Given the description of an element on the screen output the (x, y) to click on. 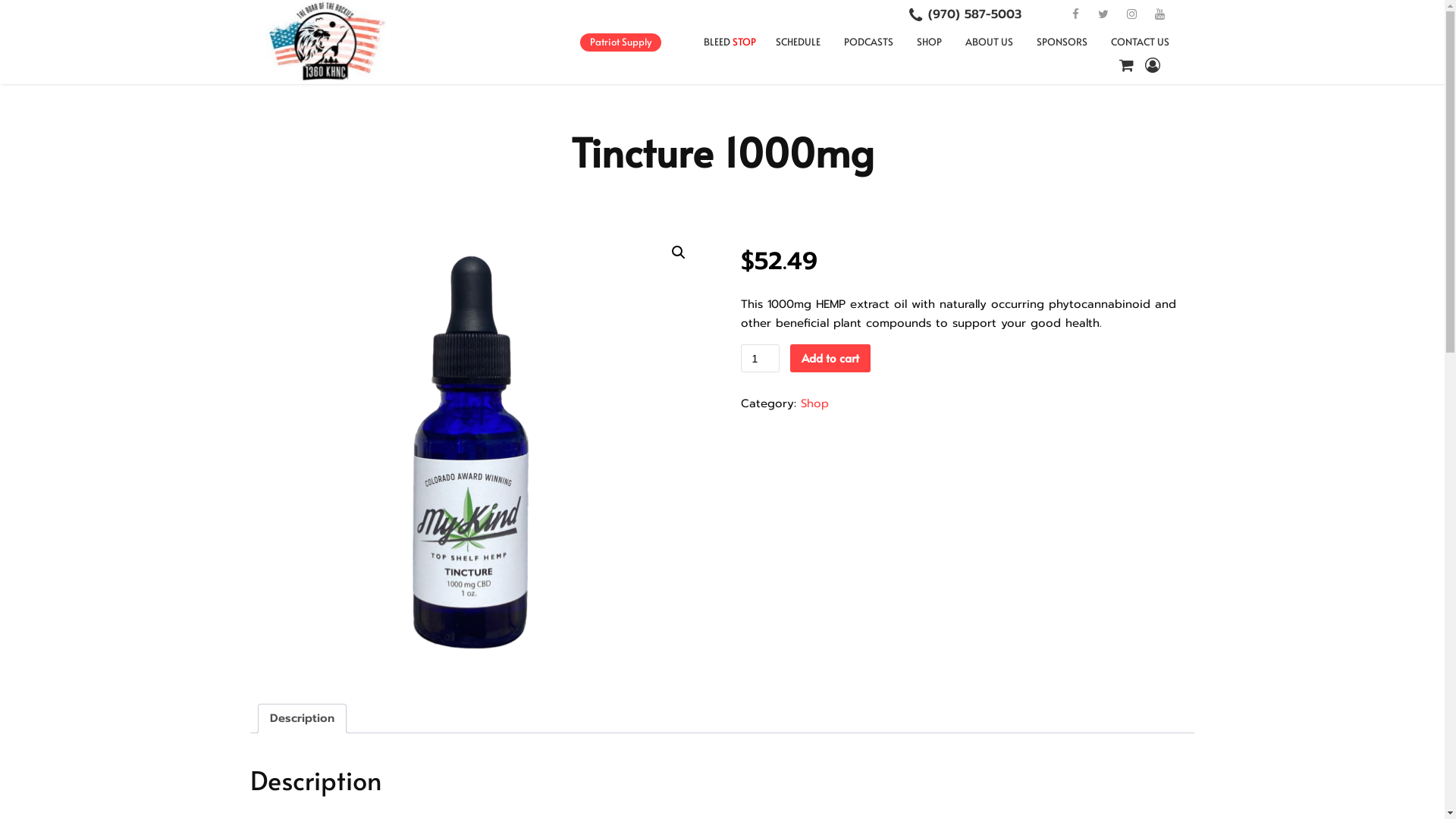
SHOP Element type: text (928, 42)
Add to cart Element type: text (830, 358)
Twitter Element type: hover (1103, 14)
SCHEDULE Element type: text (797, 42)
Facebook Element type: hover (1075, 14)
Shop Element type: text (814, 403)
MyKind Tincture 1000mg Element type: hover (476, 453)
BLEED STOP Element type: text (729, 42)
ABOUT US Element type: text (988, 42)
PODCASTS Element type: text (868, 42)
Patriot Supply Element type: text (620, 42)
(970) 587-5003 Element type: text (974, 14)
Instagram Element type: hover (1131, 14)
SPONSORS Element type: text (1061, 42)
CONTACT US Element type: text (1140, 42)
Youtube Element type: hover (1159, 14)
Description Element type: text (301, 718)
